Given the description of an element on the screen output the (x, y) to click on. 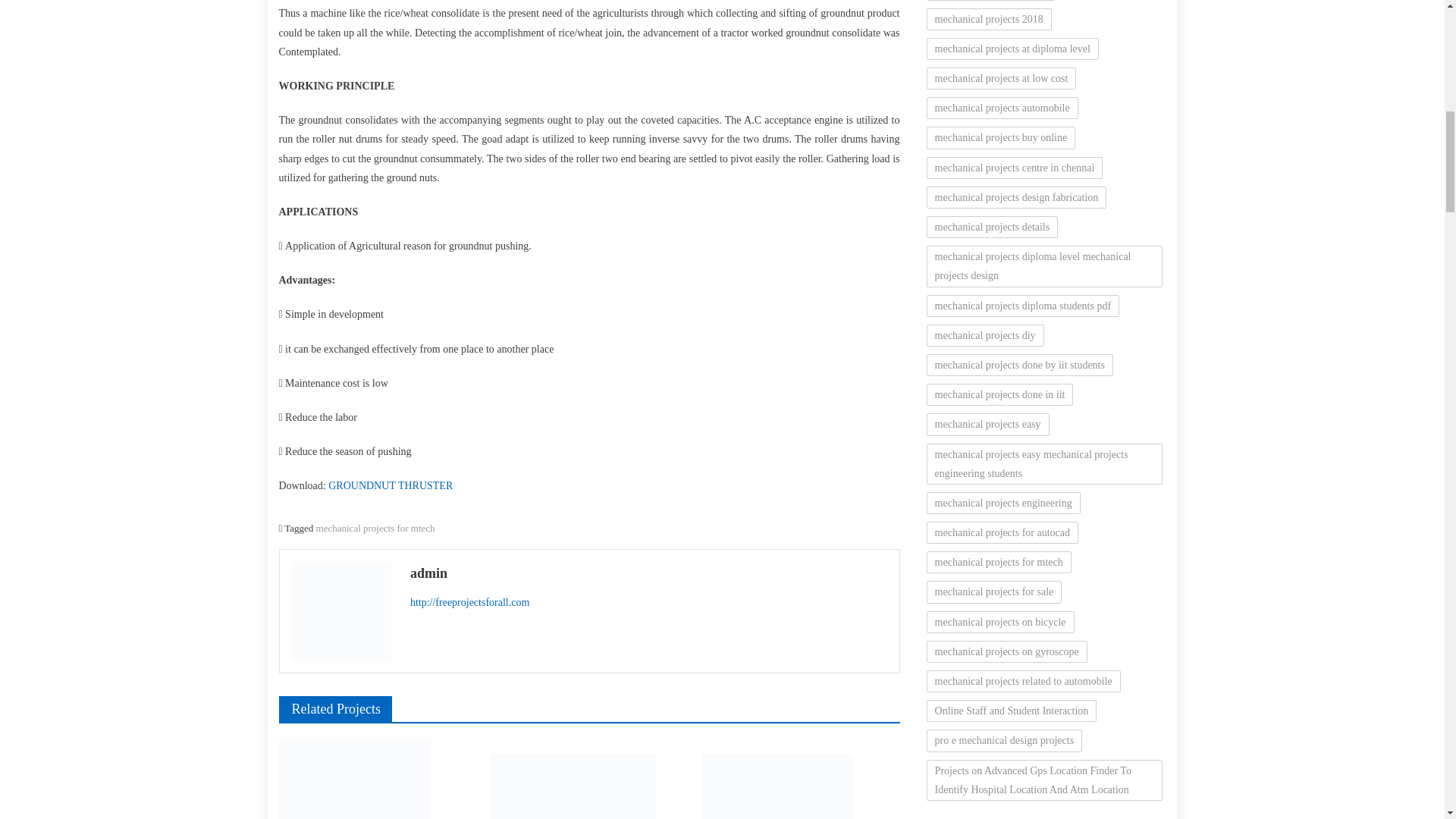
POWER GENERATION FROM SMALL WIND MILL (378, 778)
FABRICATION OF HYDRAULIC ROD BENDING MACHINE (588, 786)
REMOTE CONTROLLED BELT CONVEYOR (800, 786)
